Given the description of an element on the screen output the (x, y) to click on. 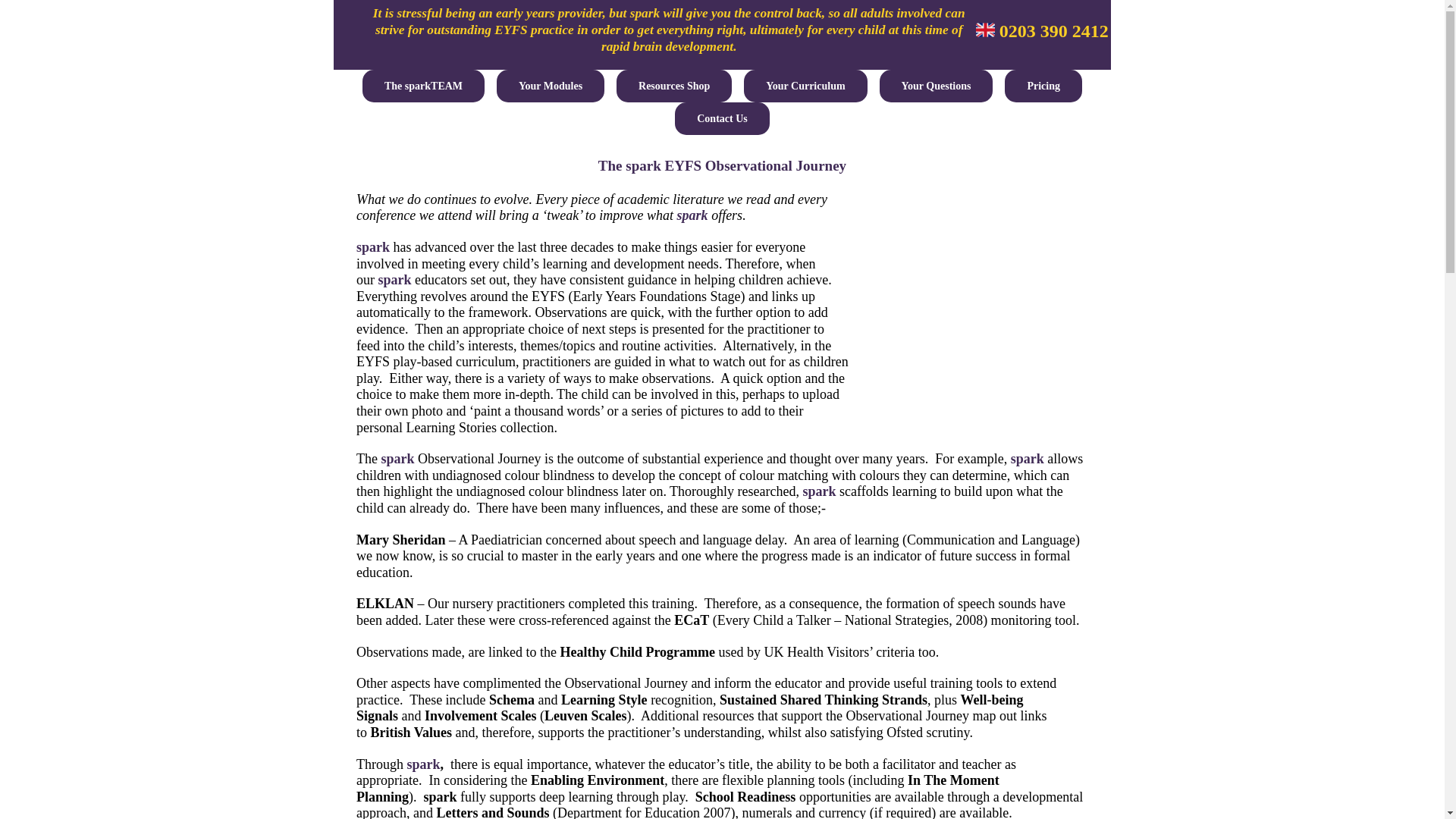
Pricing (1042, 85)
Contact Us (722, 118)
Your Modules (550, 85)
The sparkTEAM (423, 85)
Your Curriculum (805, 85)
Resources Shop (673, 85)
Your Questions (935, 85)
 0203 390 2412 (1041, 30)
